Given the description of an element on the screen output the (x, y) to click on. 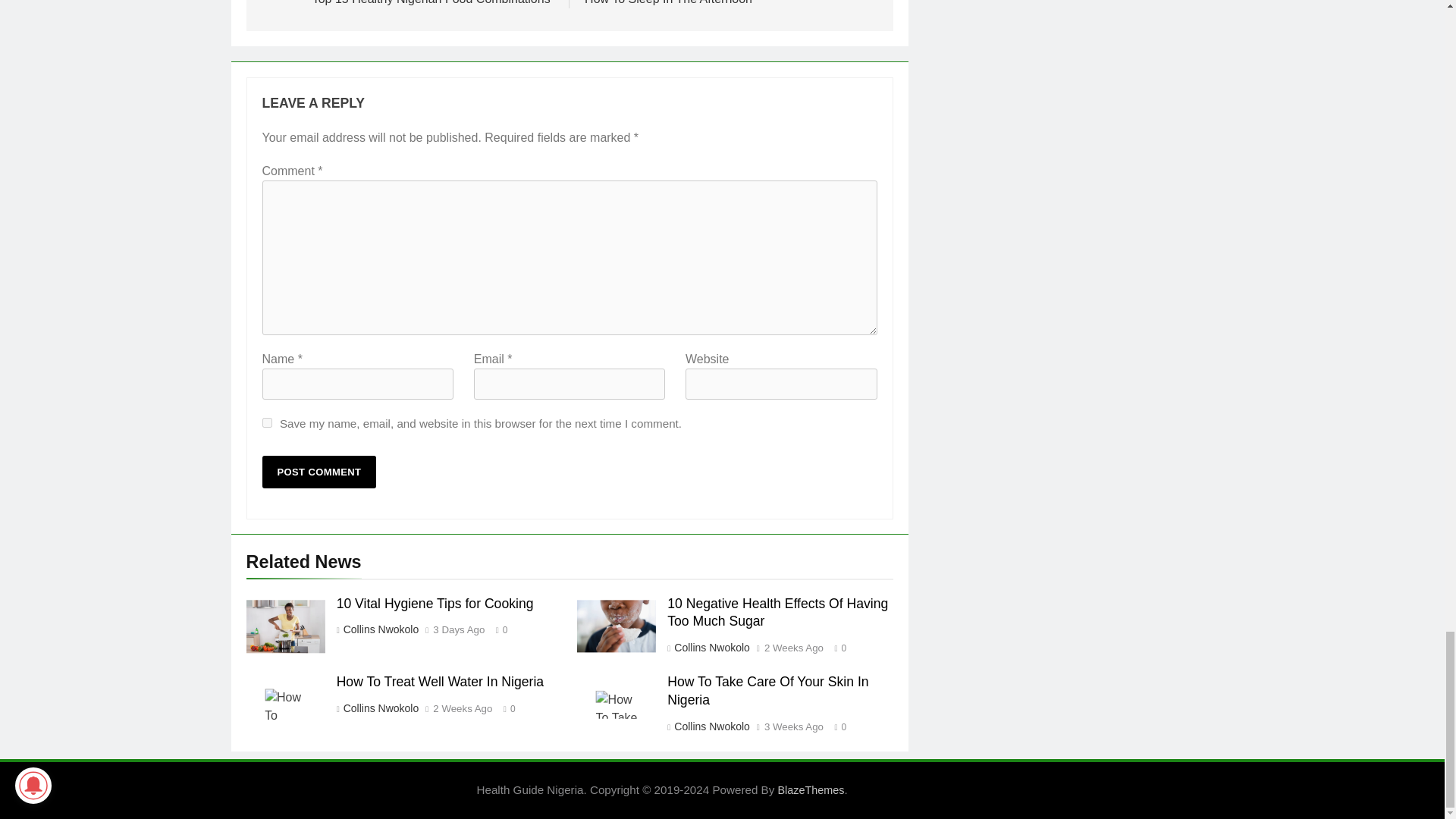
Post Comment (319, 471)
yes (267, 422)
